Given the description of an element on the screen output the (x, y) to click on. 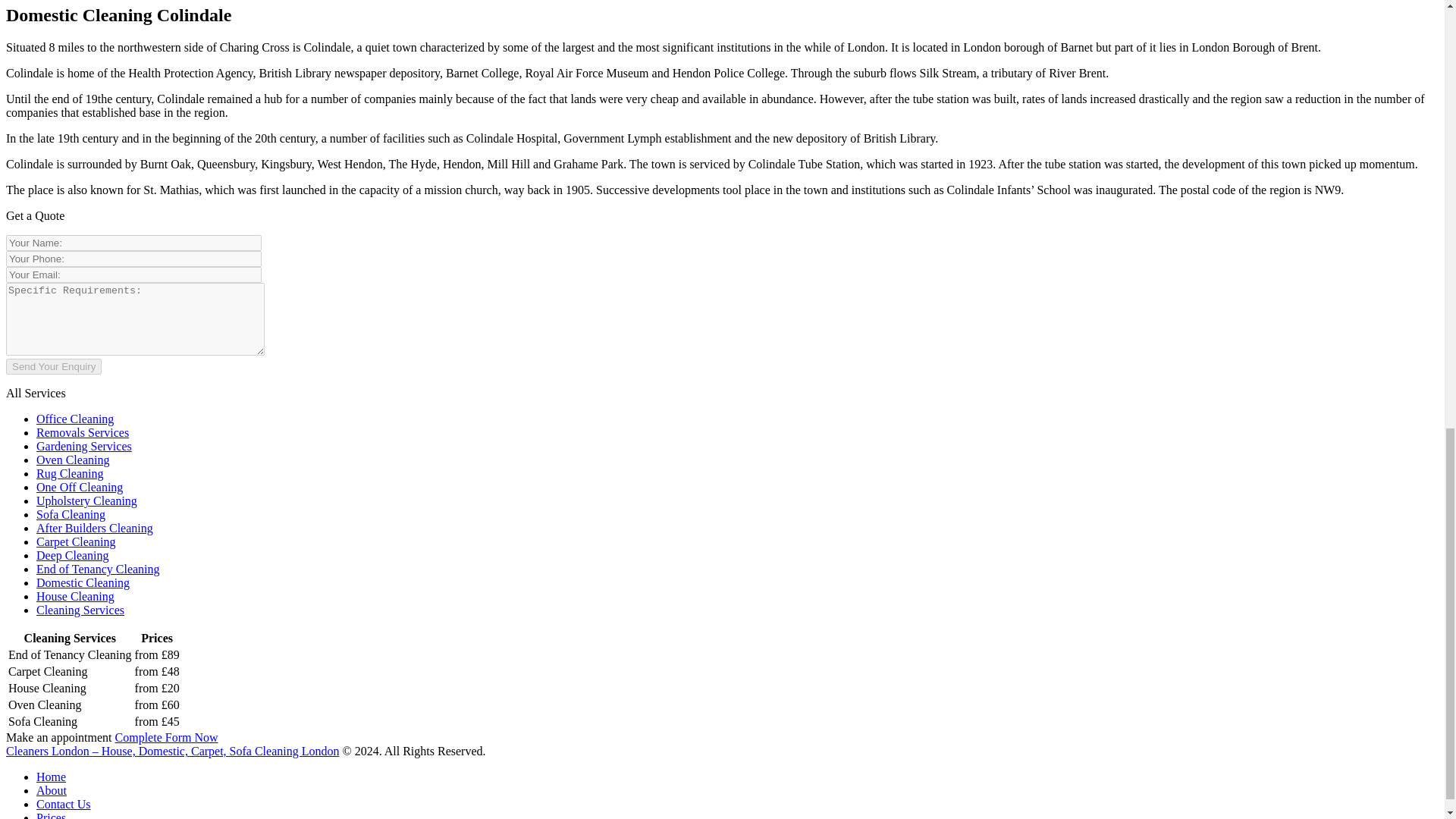
About (51, 789)
Office Cleaning (74, 418)
Complete Form Now (166, 737)
Contact Us (63, 803)
Rug Cleaning (69, 472)
Send Your Enquiry (53, 366)
Upholstery Cleaning (86, 500)
Cleaning Services (79, 609)
After Builders Cleaning (94, 527)
Home (50, 776)
